Given the description of an element on the screen output the (x, y) to click on. 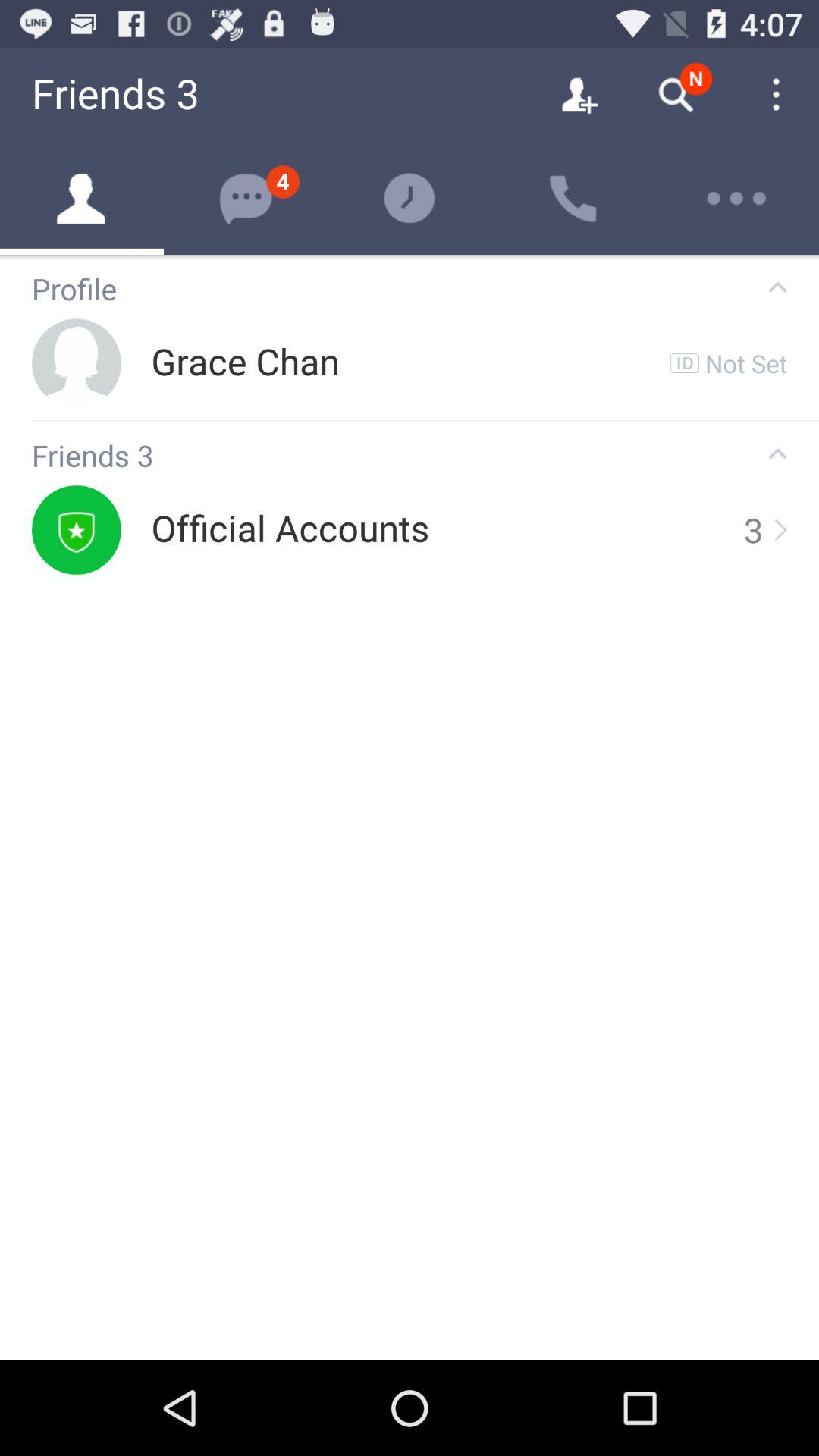
launch the official accounts item (290, 529)
